Given the description of an element on the screen output the (x, y) to click on. 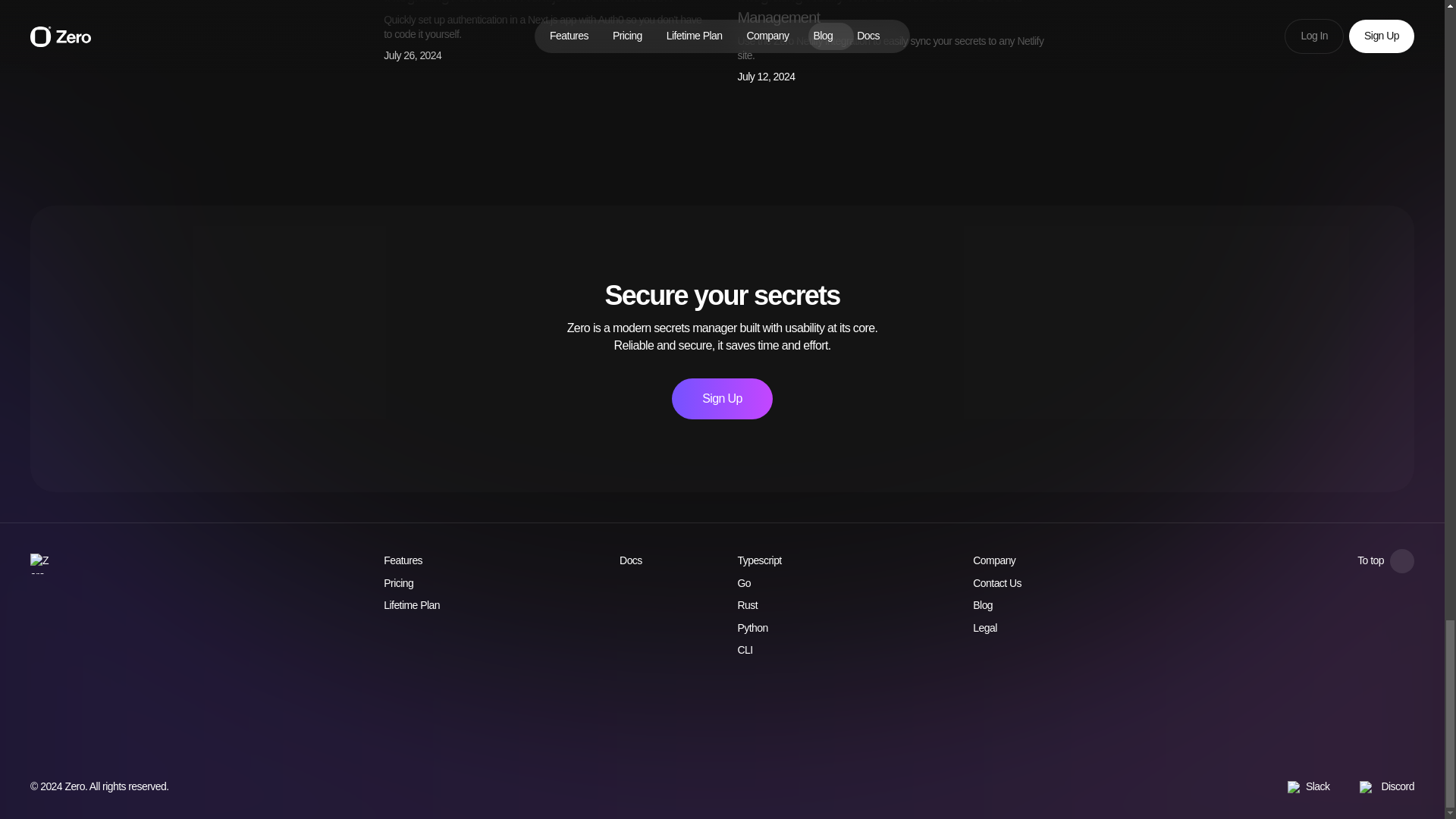
Rust (754, 605)
To top (1384, 560)
Discord server (1386, 786)
Features (403, 560)
Integrating Auth0 with Next.js for Authentication (527, 2)
Docs (639, 560)
Sign Up (721, 398)
Pricing (398, 583)
Typescript (766, 560)
Lifetime Plan (411, 605)
Integrating Netlify with Zero for Secure Secrets Management (879, 12)
Slack channel (1308, 786)
